Given the description of an element on the screen output the (x, y) to click on. 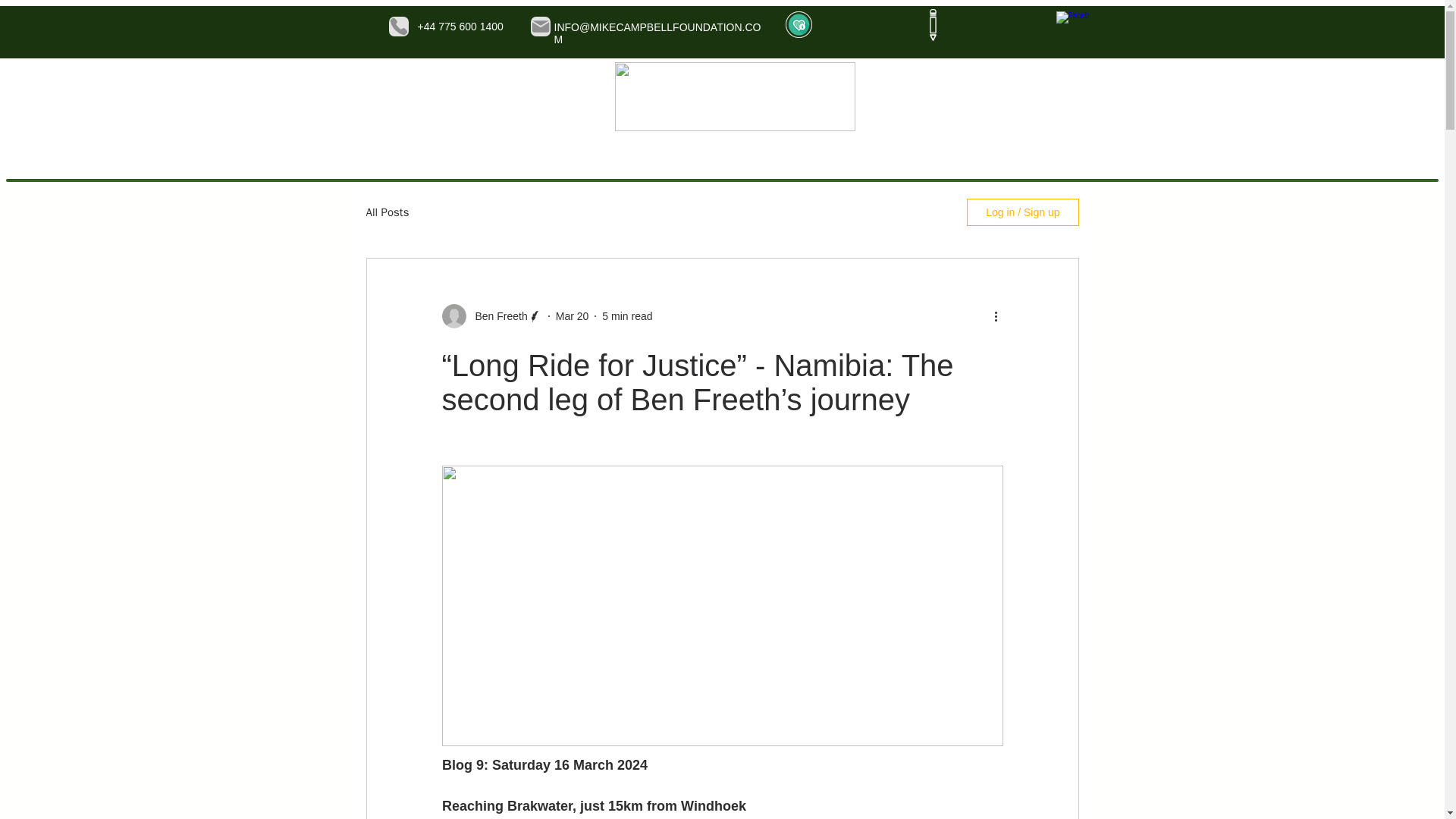
Ben Freeth (496, 315)
Mar 20 (572, 315)
5 min read (627, 315)
All Posts (387, 211)
